Given the description of an element on the screen output the (x, y) to click on. 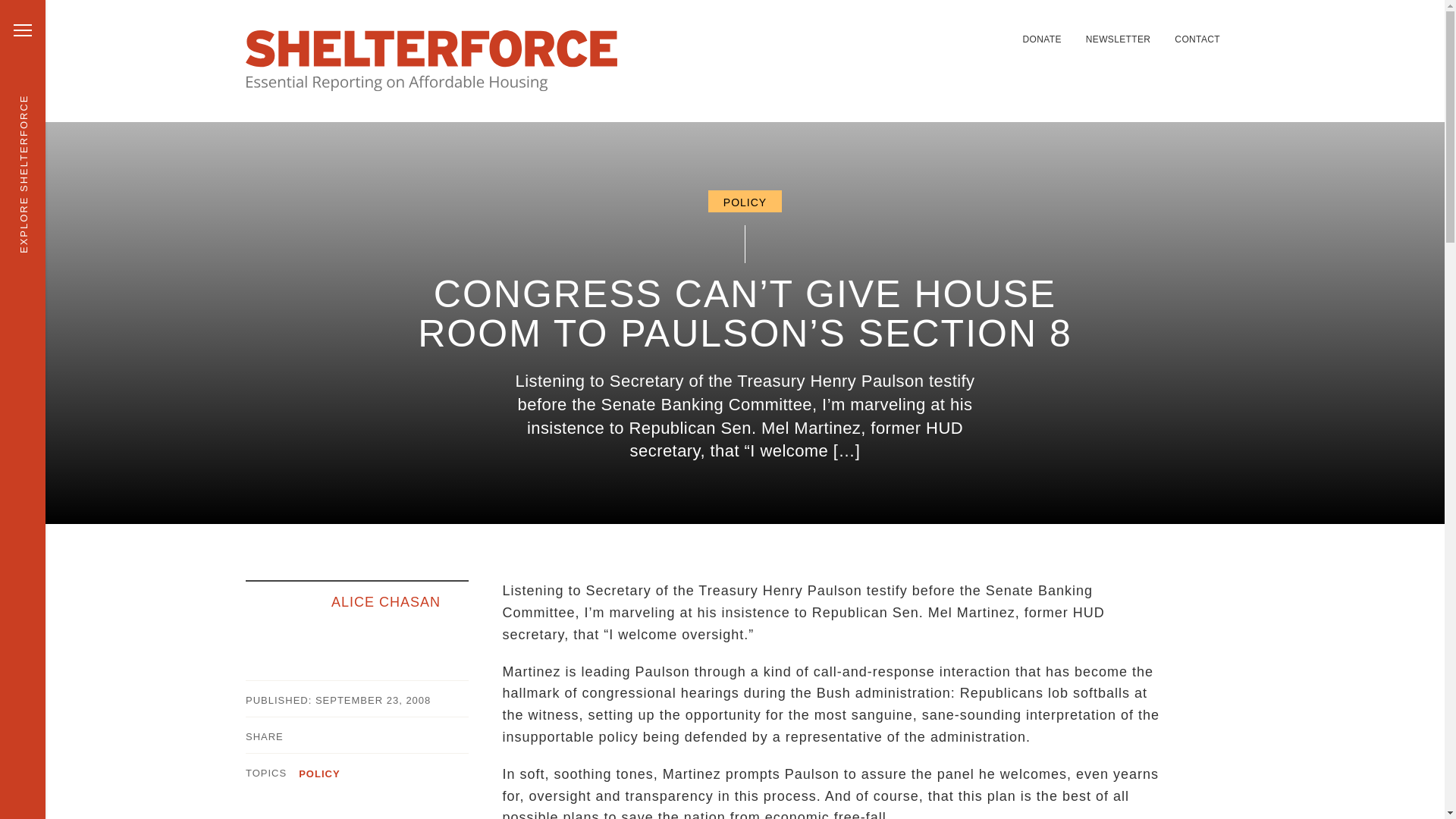
NEWSLETTER (1118, 39)
Follow us on LinkedIn (915, 30)
Follow us on Spotify (951, 30)
Follow us on Facebook (933, 30)
Follow us on Twitter (897, 30)
Shelterforce (431, 60)
Follow us on YouTube (988, 30)
Follow us on Soundcloud (969, 30)
DONATE (1041, 39)
CONTACT (1197, 39)
